Given the description of an element on the screen output the (x, y) to click on. 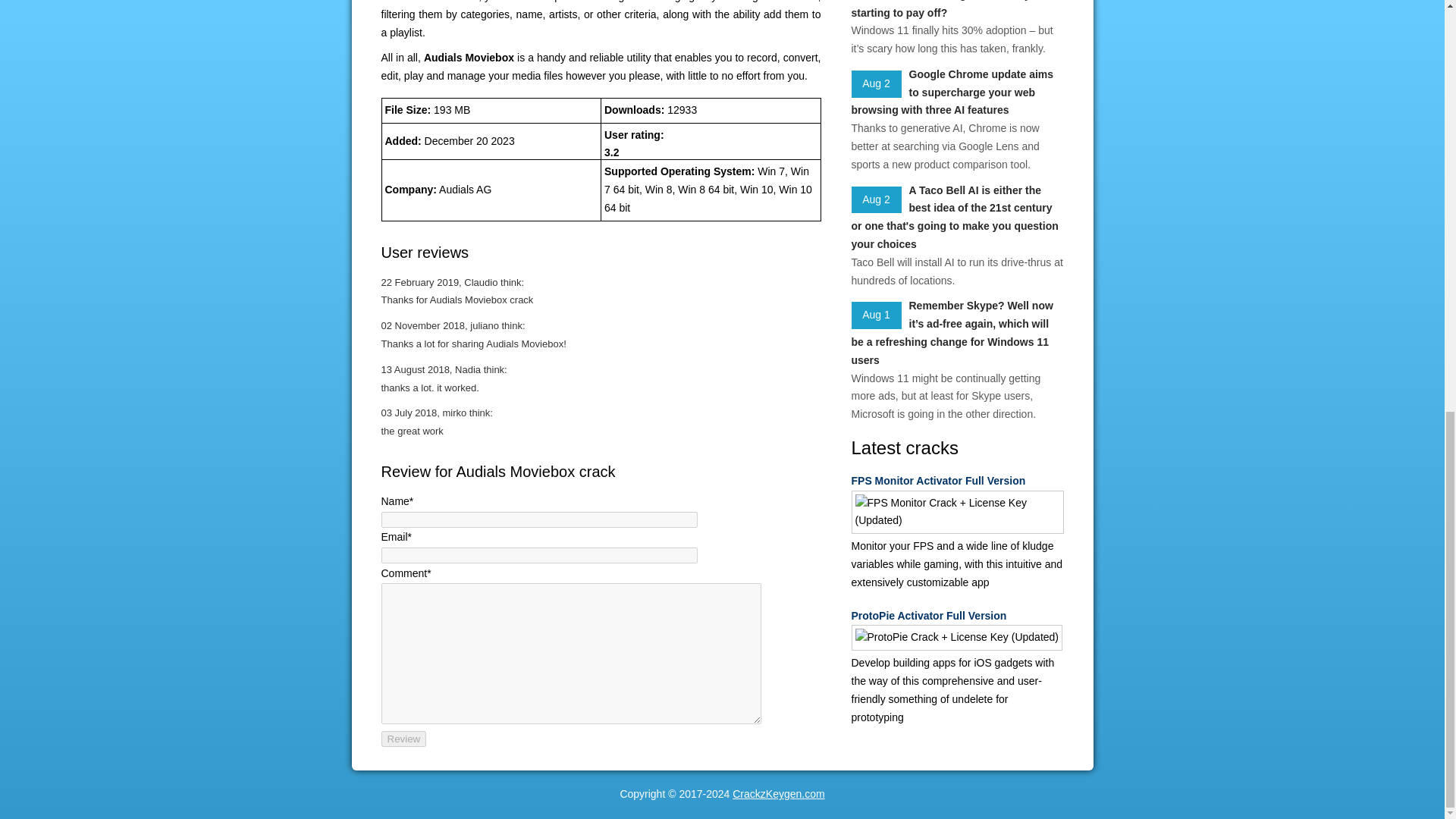
ProtoPie Activator Full Version (956, 616)
FPS Monitor Activator Full Version (956, 481)
Review (403, 738)
Review (403, 738)
CrackzKeygen.com (778, 793)
